Given the description of an element on the screen output the (x, y) to click on. 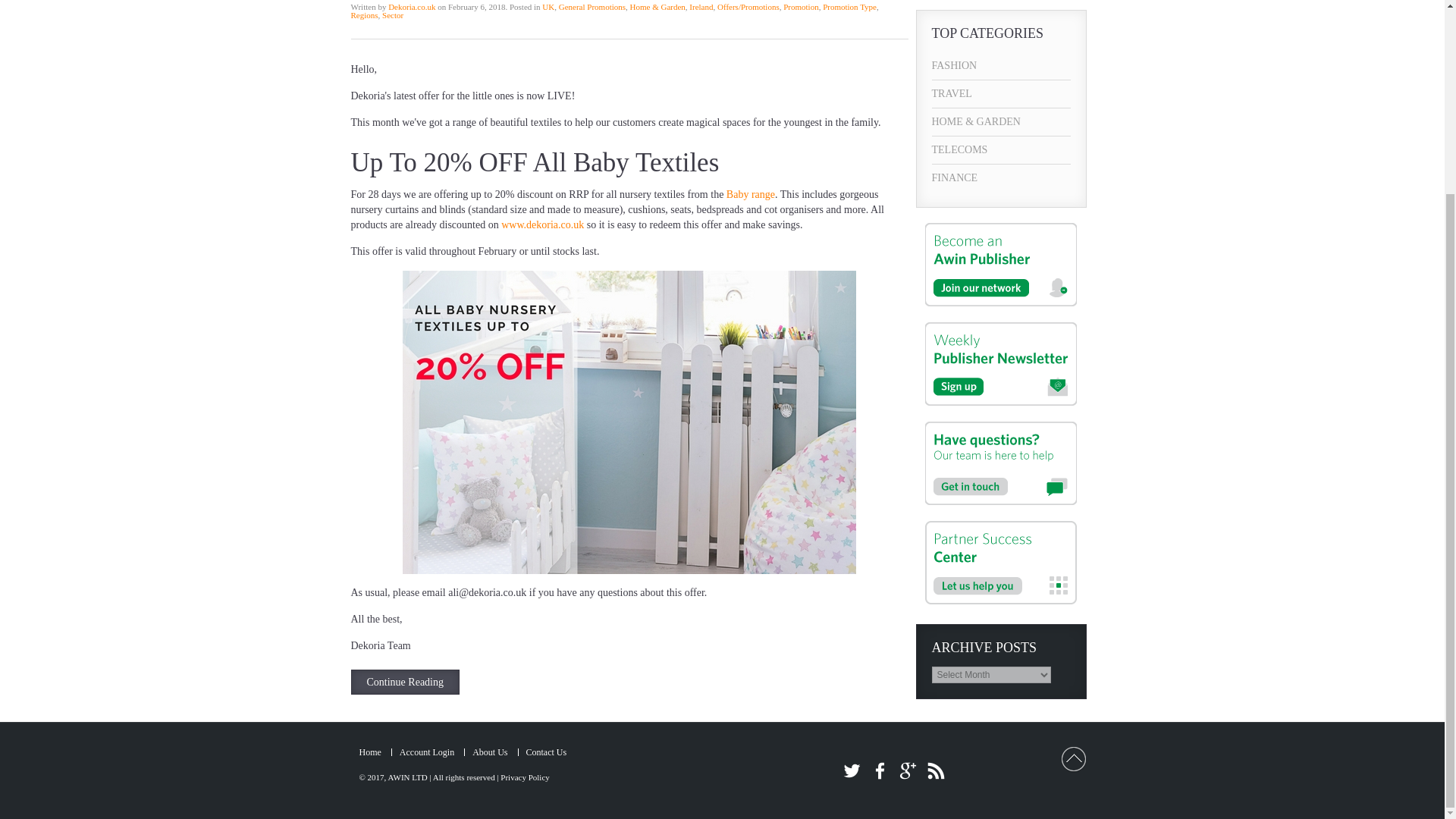
Continue Reading (405, 681)
Dekoria.co.uk (411, 6)
Dekoria.co.uk (411, 6)
General Promotions (592, 6)
FASHION (1000, 65)
UK (547, 6)
www.dekoria.co.uk (541, 224)
TELECOMS (1000, 149)
Baby range (750, 194)
TRAVEL (1000, 93)
